Given the description of an element on the screen output the (x, y) to click on. 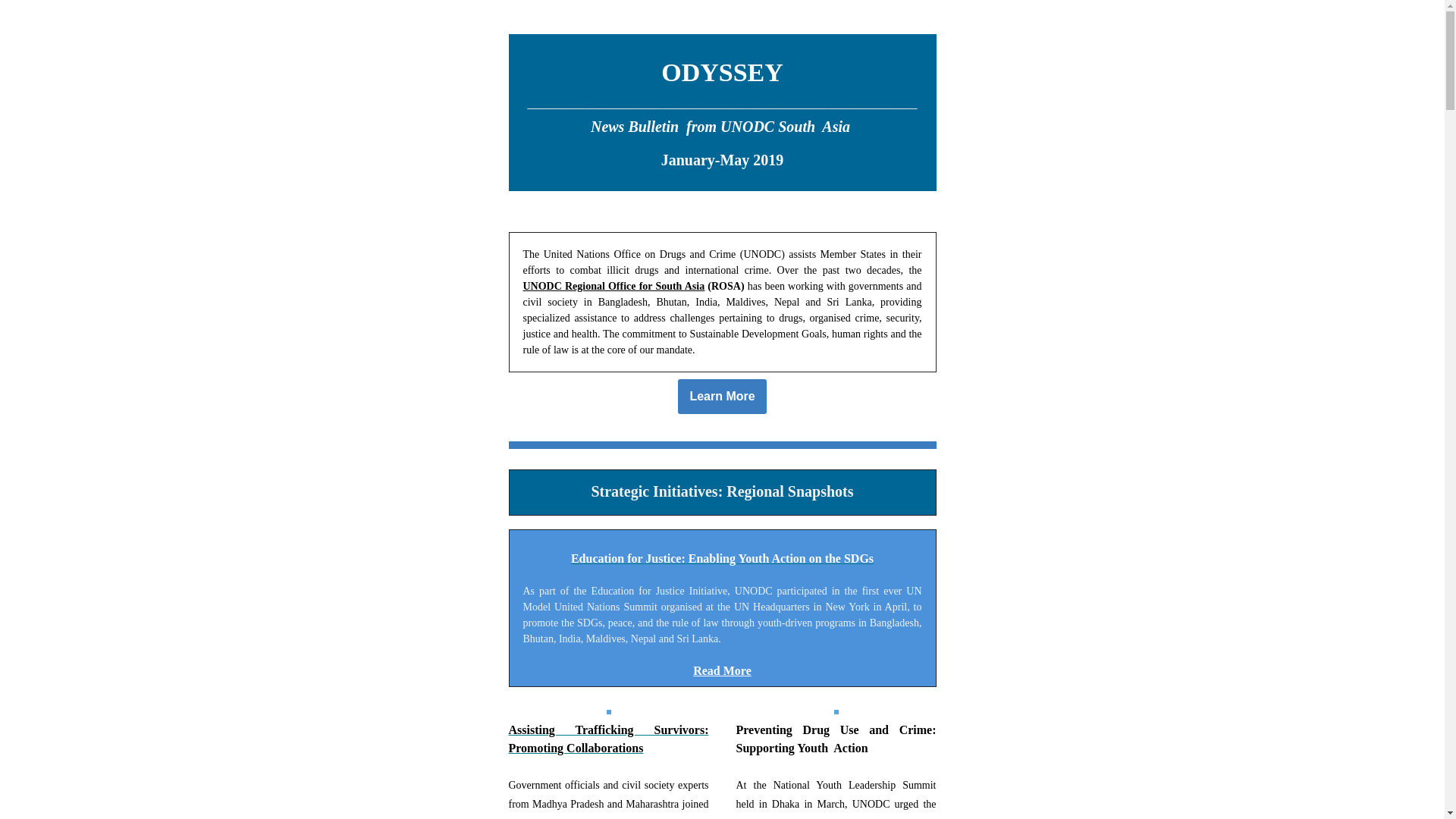
Regional Office for South Asia (634, 285)
Assisting Trafficking Survivors: Promoting Collaborations (607, 738)
Learn More (721, 396)
Education for Justice: Enabling Youth Action on the SDGs (721, 558)
Read More (722, 671)
Learn More (721, 396)
